Given the description of an element on the screen output the (x, y) to click on. 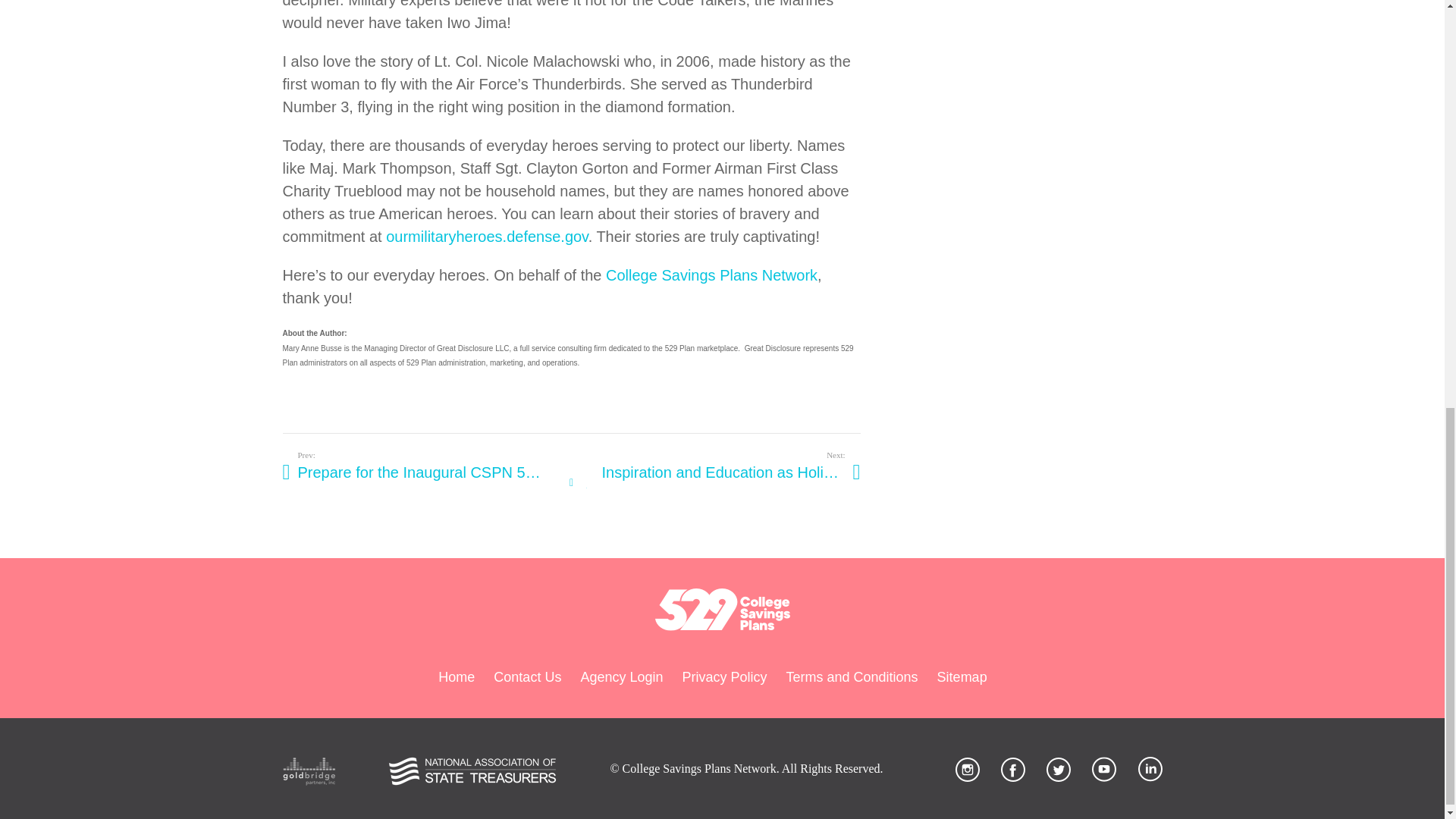
See all entries (571, 482)
